Given the description of an element on the screen output the (x, y) to click on. 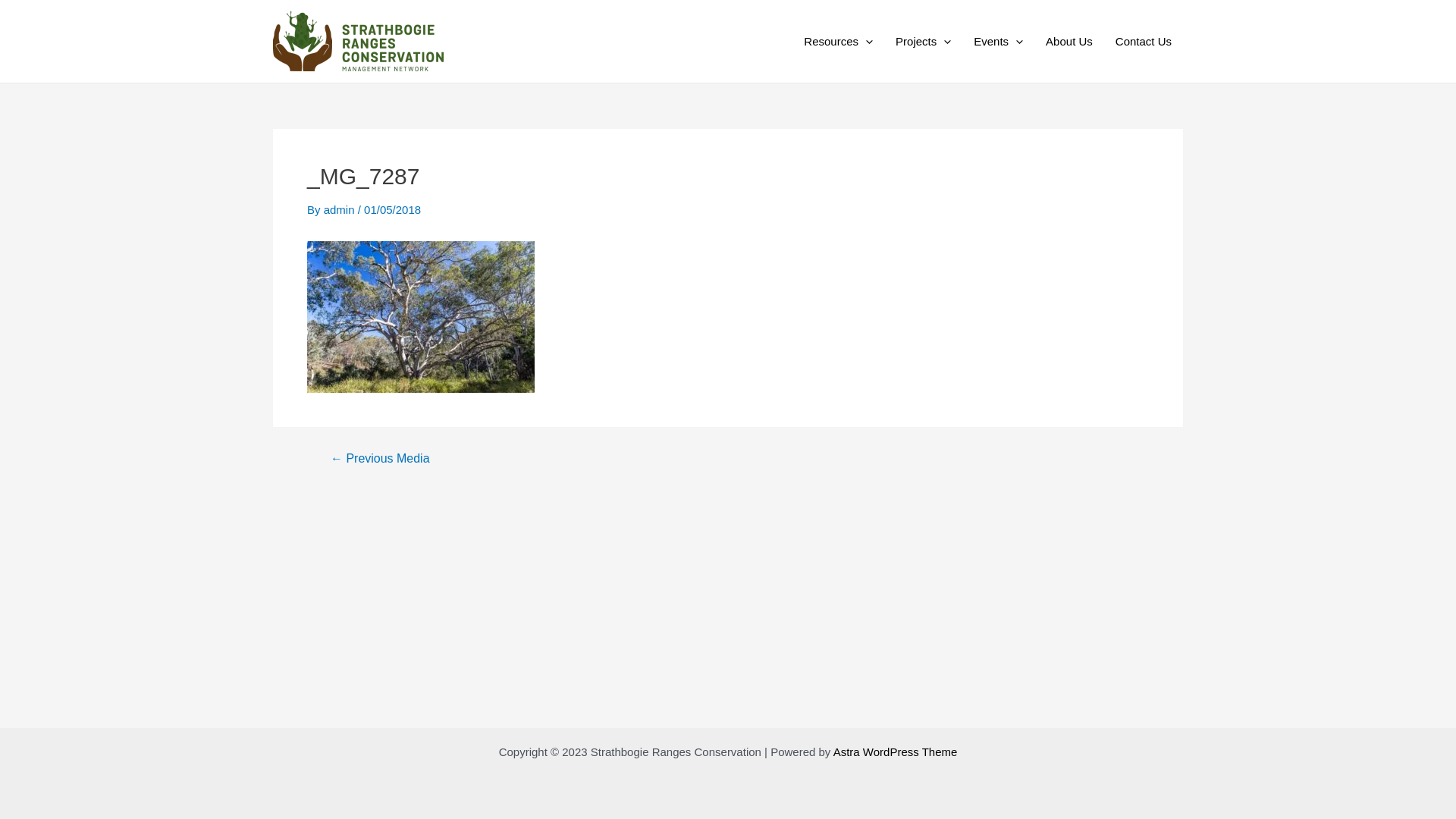
Resources Element type: text (838, 41)
Astra WordPress Theme Element type: text (895, 751)
About Us Element type: text (1069, 41)
Projects Element type: text (923, 41)
Contact Us Element type: text (1143, 41)
admin Element type: text (340, 209)
Events Element type: text (998, 41)
